Given the description of an element on the screen output the (x, y) to click on. 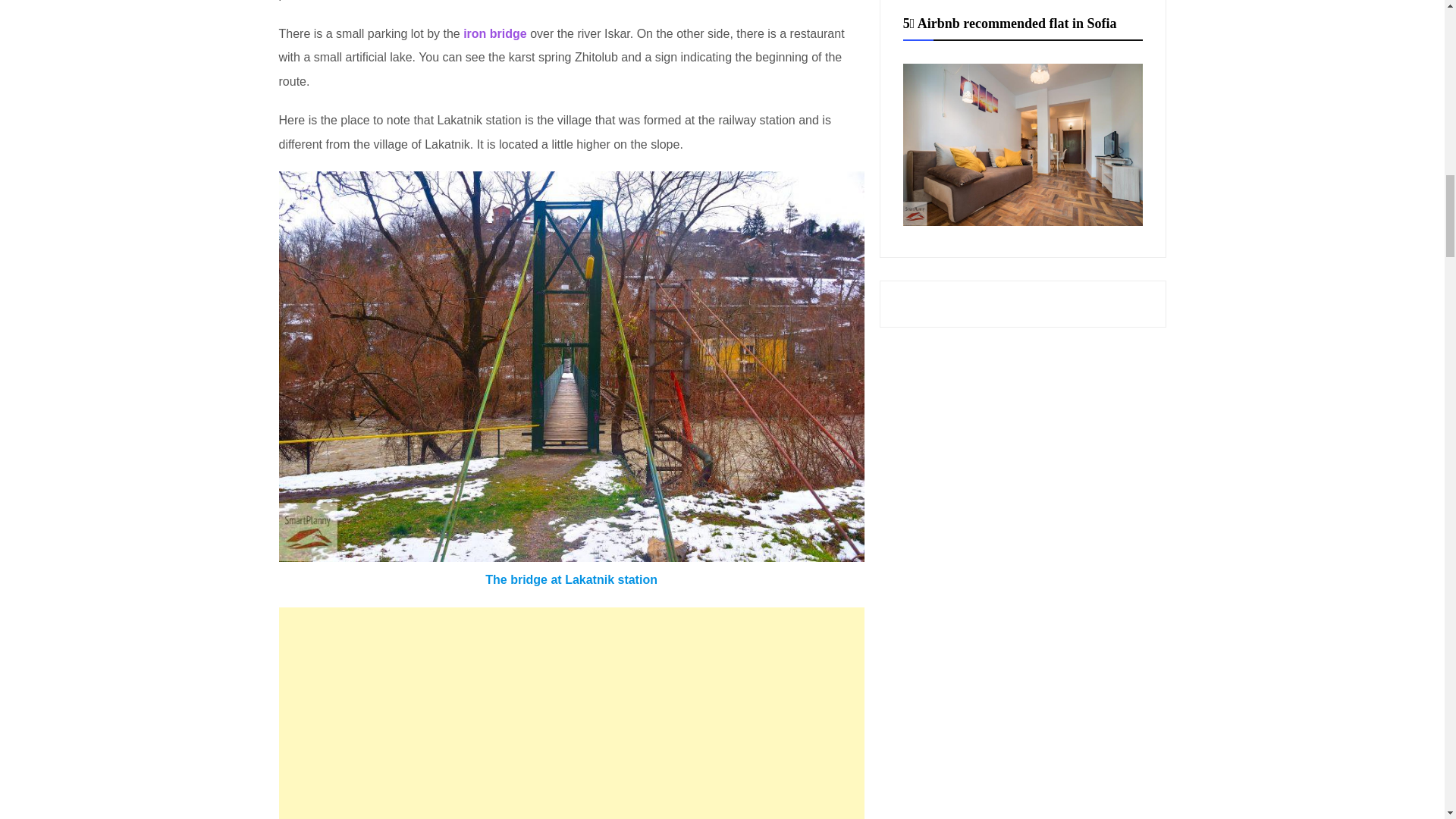
Advertisement (571, 713)
